Given the description of an element on the screen output the (x, y) to click on. 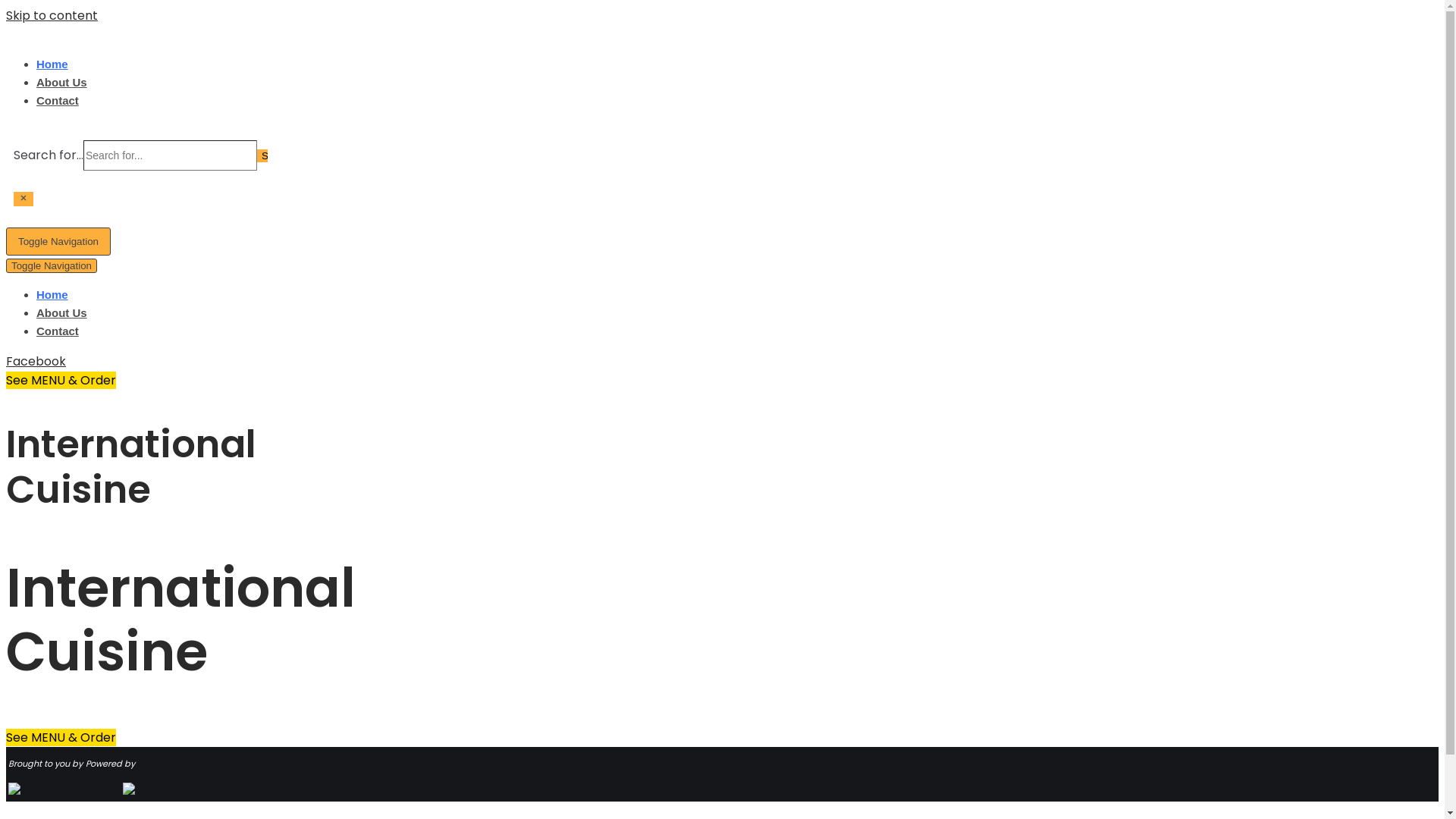
Contact Element type: text (57, 100)
Toggle Navigation Element type: text (58, 241)
About Us Element type: text (61, 312)
Home Element type: text (52, 63)
Facebook Element type: text (35, 361)
Search Element type: text (262, 155)
Contact Element type: text (57, 330)
Toggle Navigation Element type: text (51, 265)
Home Element type: text (52, 294)
Skip to content Element type: text (51, 15)
About Us Element type: text (61, 81)
